Given the description of an element on the screen output the (x, y) to click on. 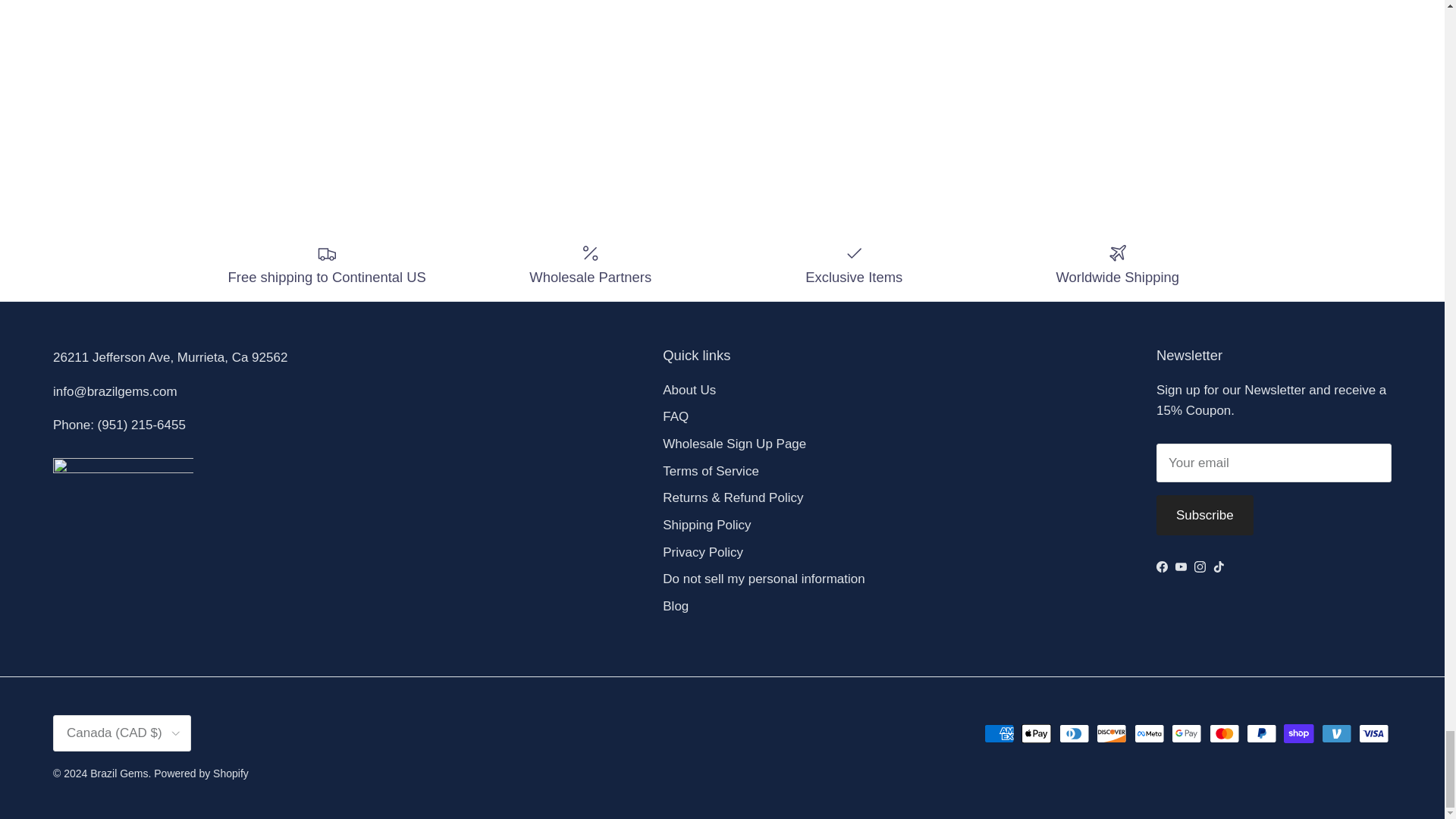
Google Pay (1186, 732)
Venmo (1336, 732)
Brazil Gems on Instagram (1199, 566)
Diners Club (1074, 732)
Mastercard (1224, 732)
Discover (1111, 732)
Meta Pay (1149, 732)
Apple Pay (1036, 732)
Visa (1373, 732)
Brazil Gems on Facebook (1161, 566)
Shop Pay (1298, 732)
PayPal (1261, 732)
American Express (999, 732)
Brazil Gems on TikTok (1218, 566)
Brazil Gems on YouTube (1180, 566)
